Given the description of an element on the screen output the (x, y) to click on. 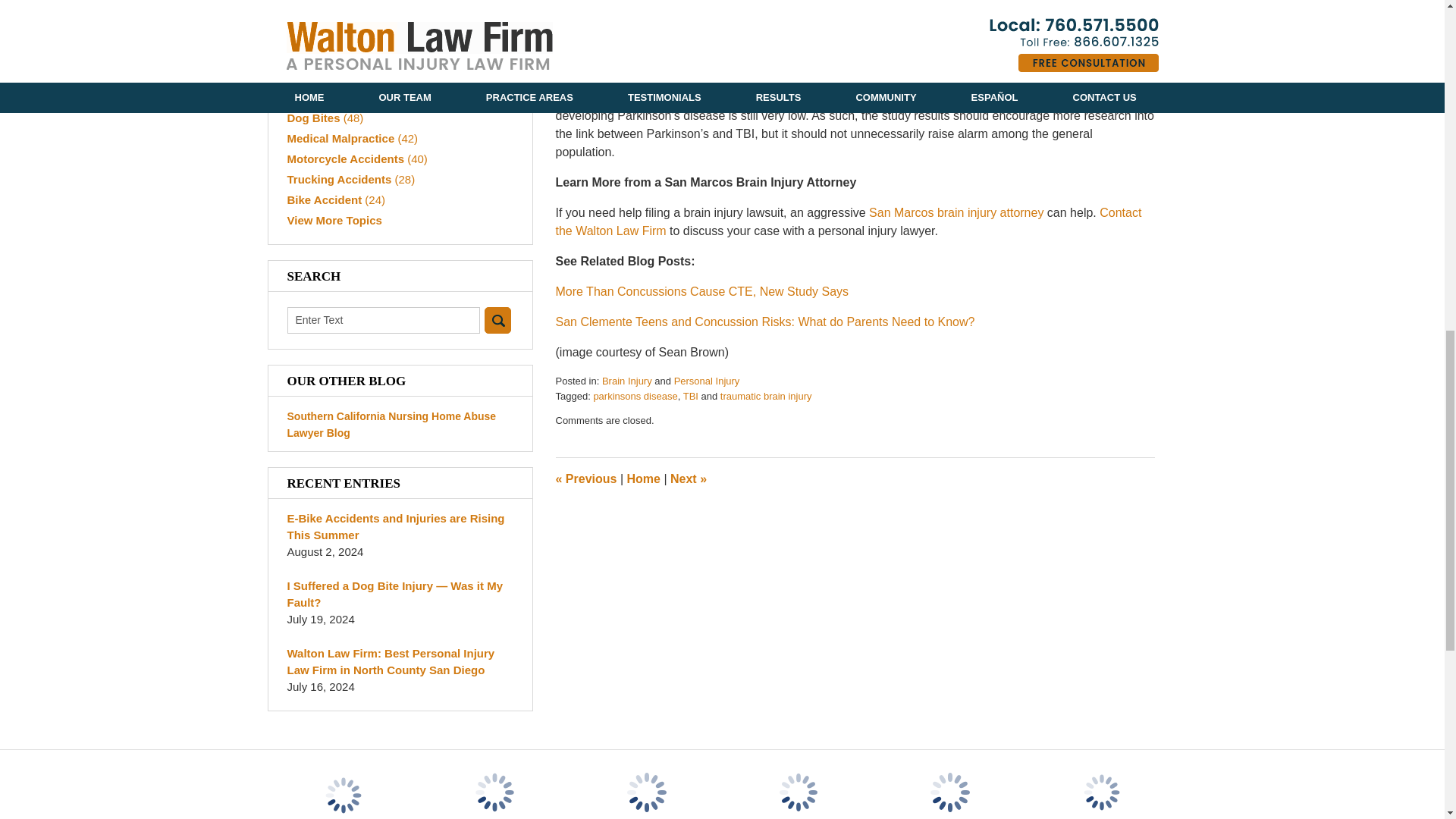
View all posts tagged with parkinsons disease (634, 396)
View all posts tagged with TBI (690, 396)
TBI (690, 396)
parkinsons disease (634, 396)
View all posts in Personal Injury (706, 380)
traumatic brain injury (766, 396)
Contact the Walton Law Firm (847, 221)
Personal Injury (706, 380)
More Than Concussions Cause CTE, New Study Says (701, 291)
Hearing Loss May Increase Your Injury Risk in Escondido (687, 478)
